Given the description of an element on the screen output the (x, y) to click on. 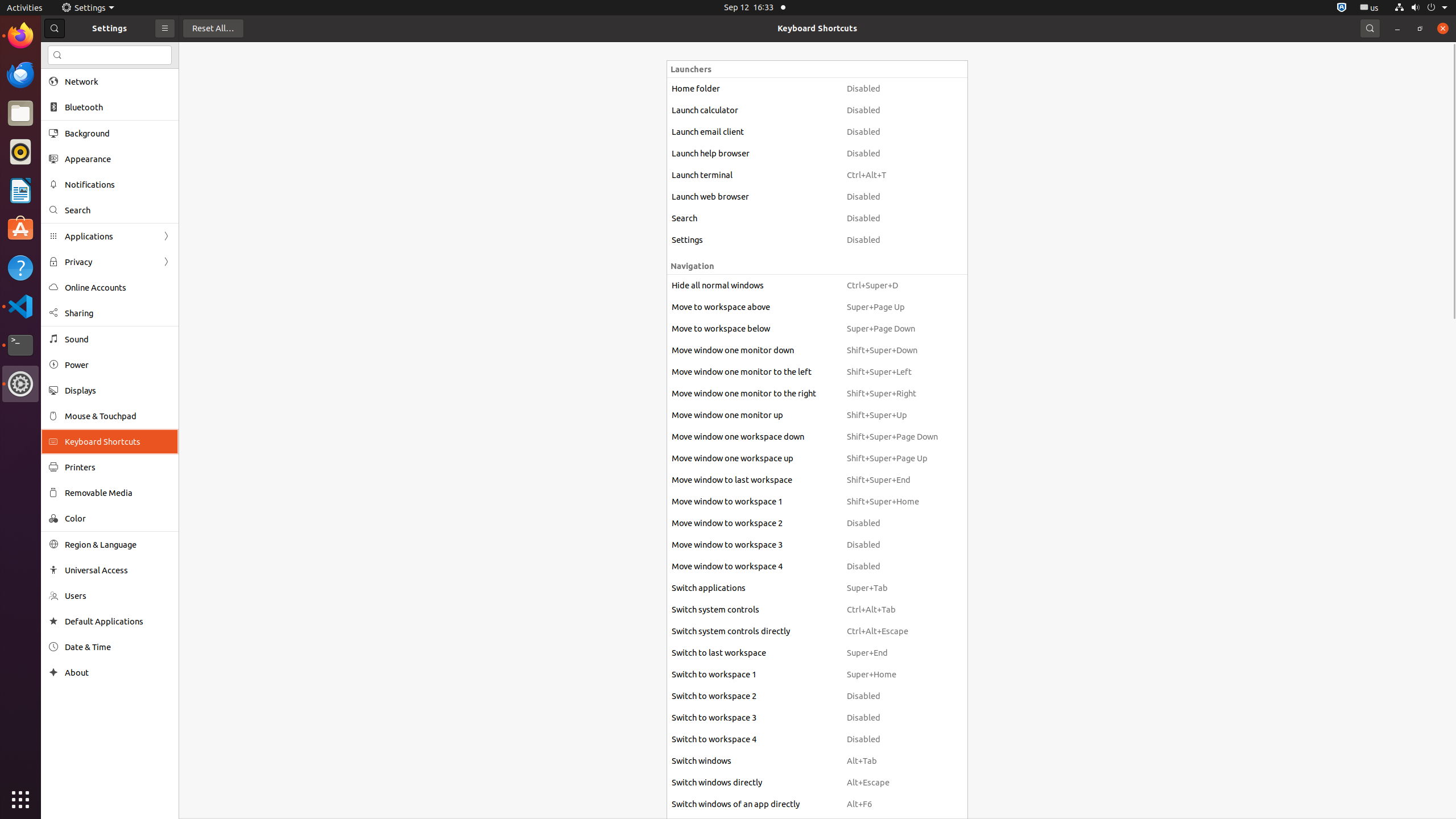
Shift+Super+Right Element type: label (891, 393)
Super+Home Element type: label (891, 674)
Reset All… Element type: push-button (212, 28)
About Element type: icon (53, 672)
Move window to last workspace Element type: label (753, 479)
